Given the description of an element on the screen output the (x, y) to click on. 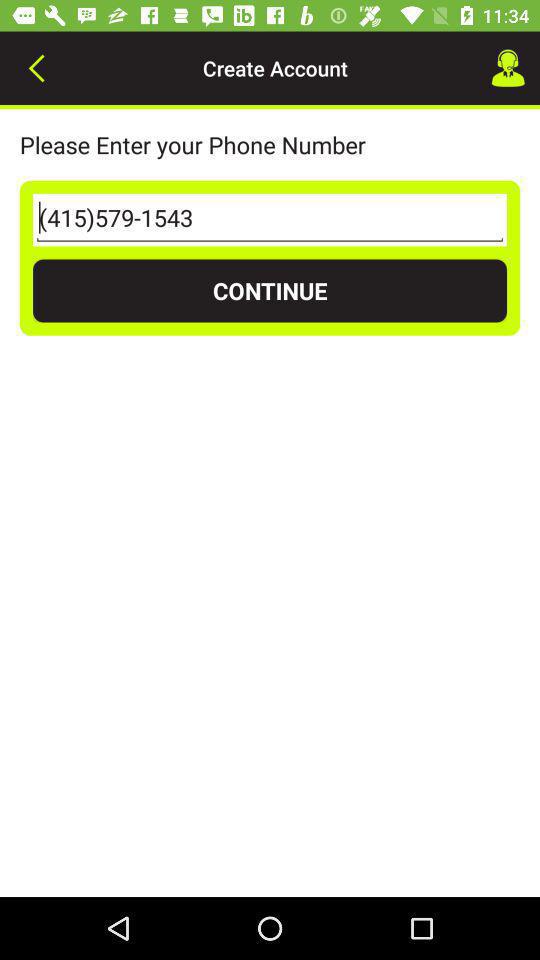
turn on icon at the top left corner (36, 68)
